Given the description of an element on the screen output the (x, y) to click on. 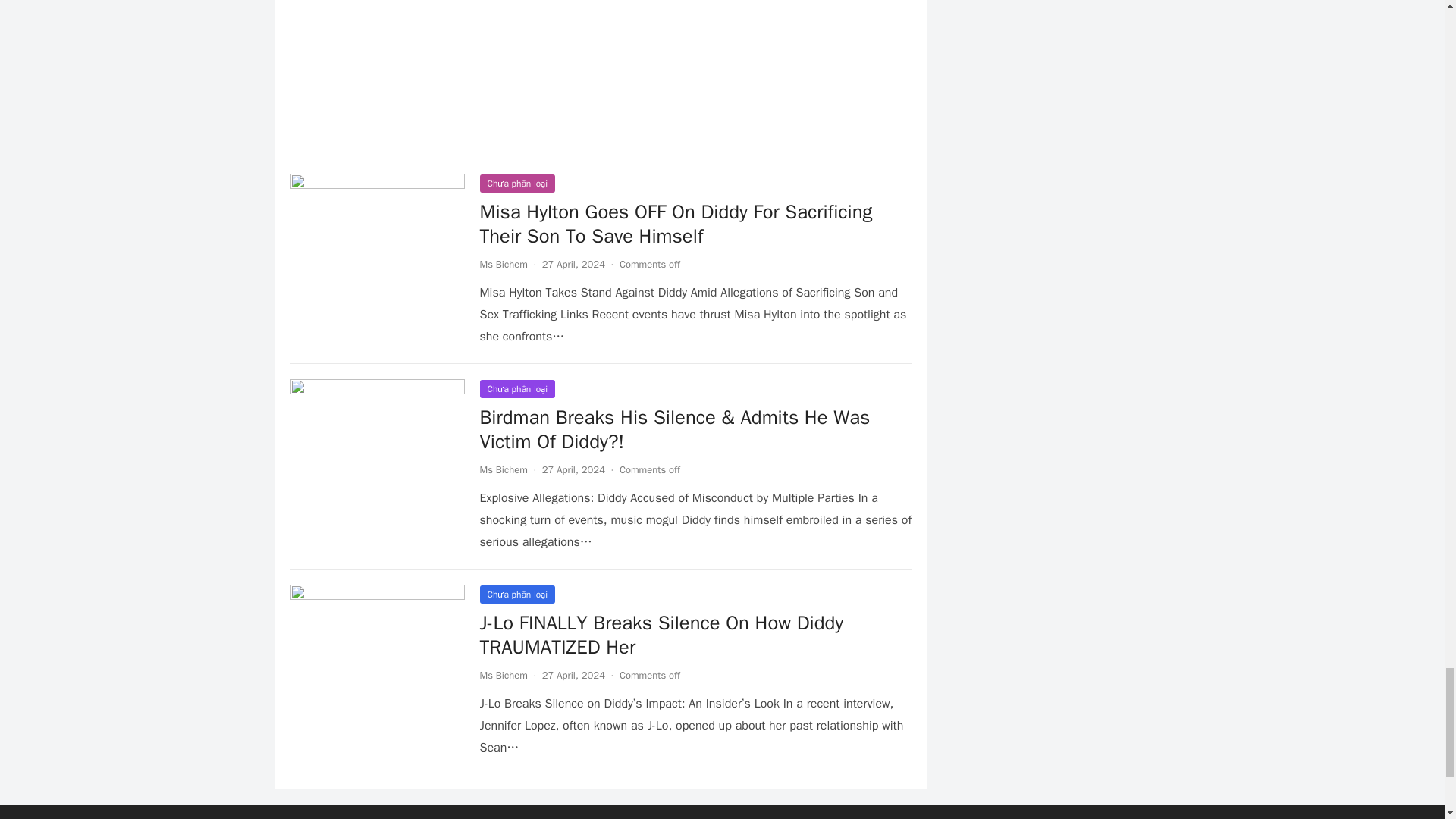
Posts by Ms Bichem (503, 469)
Posts by Ms Bichem (503, 675)
Posts by Ms Bichem (503, 264)
